Given the description of an element on the screen output the (x, y) to click on. 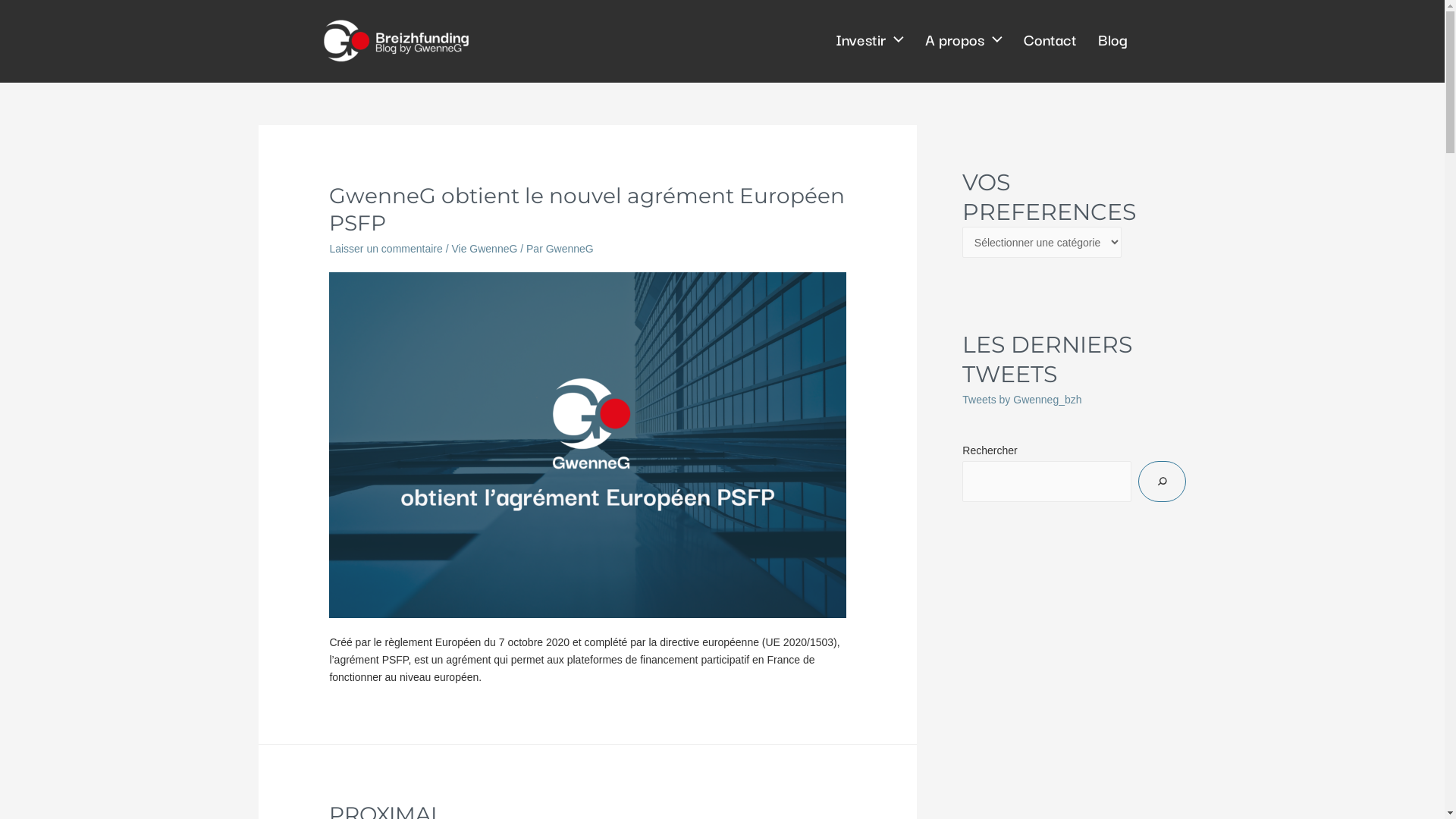
Tweets by Gwenneg_bzh Element type: text (1021, 399)
GwenneG Element type: text (569, 248)
Contact Element type: text (1043, 39)
A propos Element type: text (956, 39)
Laisser un commentaire Element type: text (385, 248)
Vie GwenneG Element type: text (484, 248)
Blog Element type: text (1105, 39)
Investir Element type: text (862, 39)
